Given the description of an element on the screen output the (x, y) to click on. 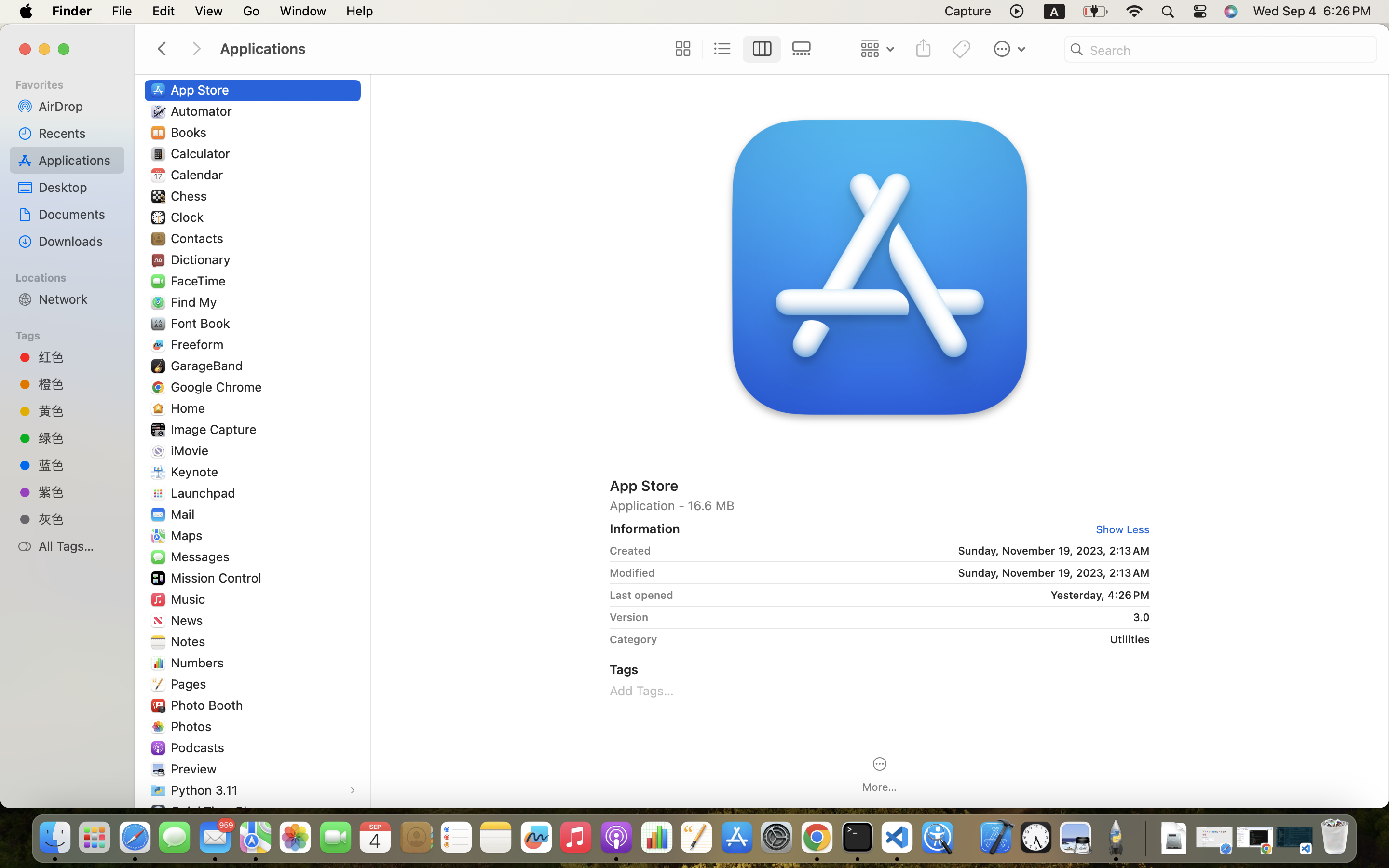
Locations Element type: AXStaticText (72, 276)
3.0 Element type: AXStaticText (901, 616)
